Given the description of an element on the screen output the (x, y) to click on. 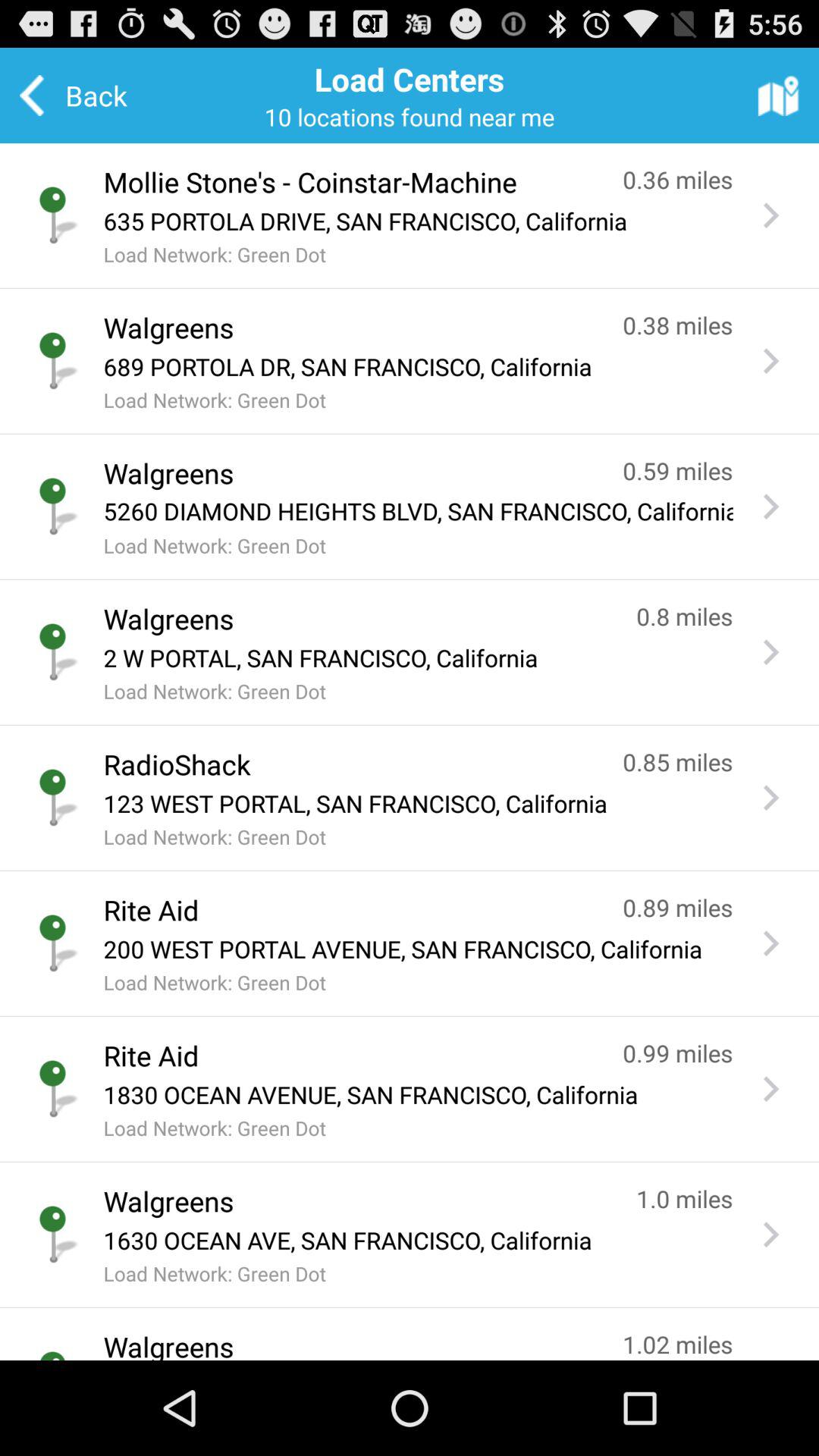
turn off the app to the right of the load centers (778, 95)
